Given the description of an element on the screen output the (x, y) to click on. 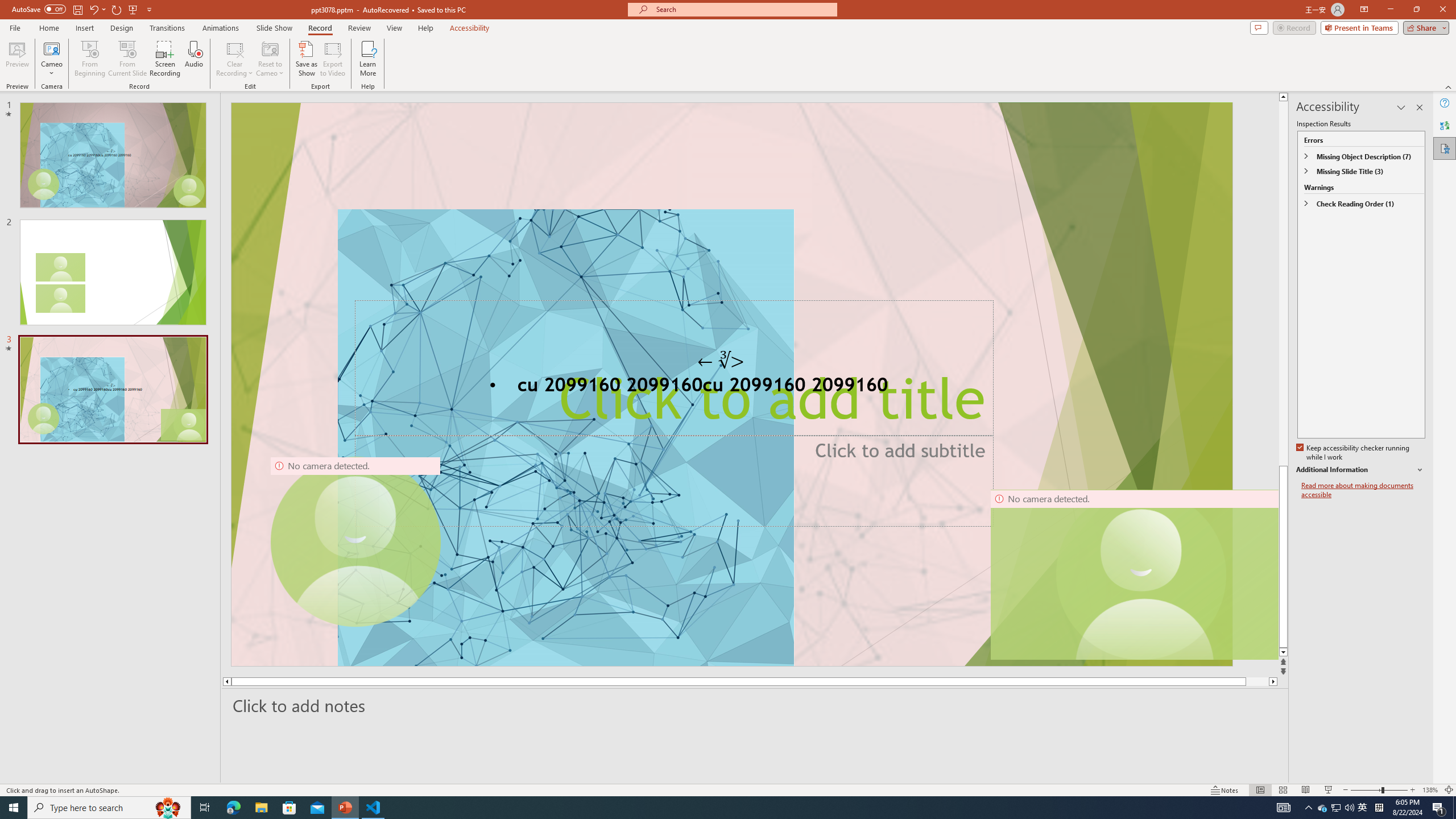
Notes  (1225, 790)
Export to Video (332, 58)
Slide Show (1328, 790)
Slide Sorter (1282, 790)
View (395, 28)
Review (359, 28)
Record (320, 28)
Redo (117, 9)
Reset to Cameo (269, 58)
Ribbon Display Options (1364, 9)
Zoom Out (1366, 790)
Audio (193, 58)
Line down (1283, 652)
Record (1294, 27)
